Given the description of an element on the screen output the (x, y) to click on. 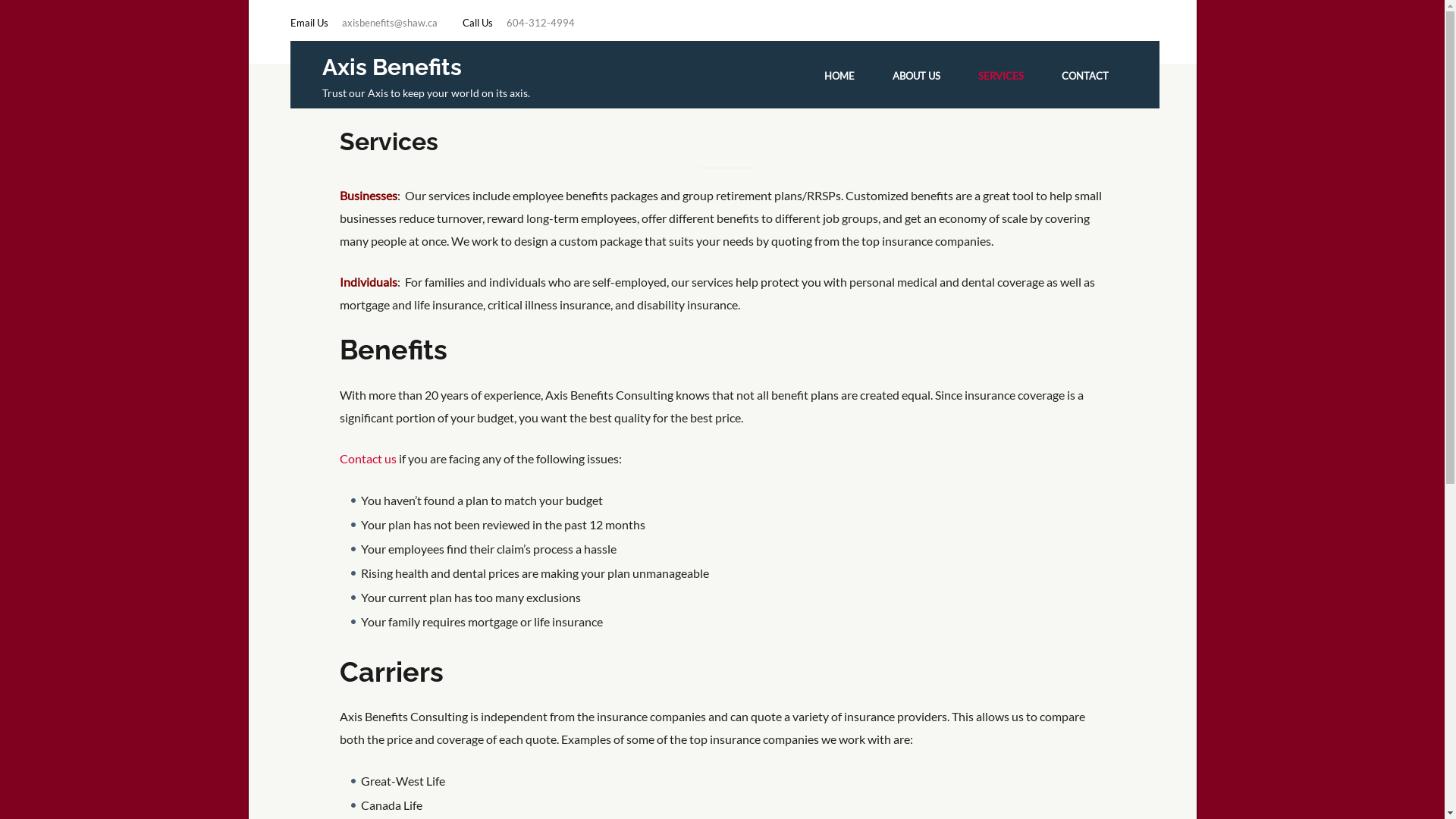
axisbenefits@shaw.ca Element type: text (388, 22)
Contact us Element type: text (367, 458)
ABOUT US Element type: text (916, 75)
604-312-4994 Element type: text (540, 22)
CONTACT Element type: text (1084, 75)
HOME Element type: text (839, 75)
Axis Benefits Element type: text (391, 66)
SERVICES Element type: text (1000, 75)
